Given the description of an element on the screen output the (x, y) to click on. 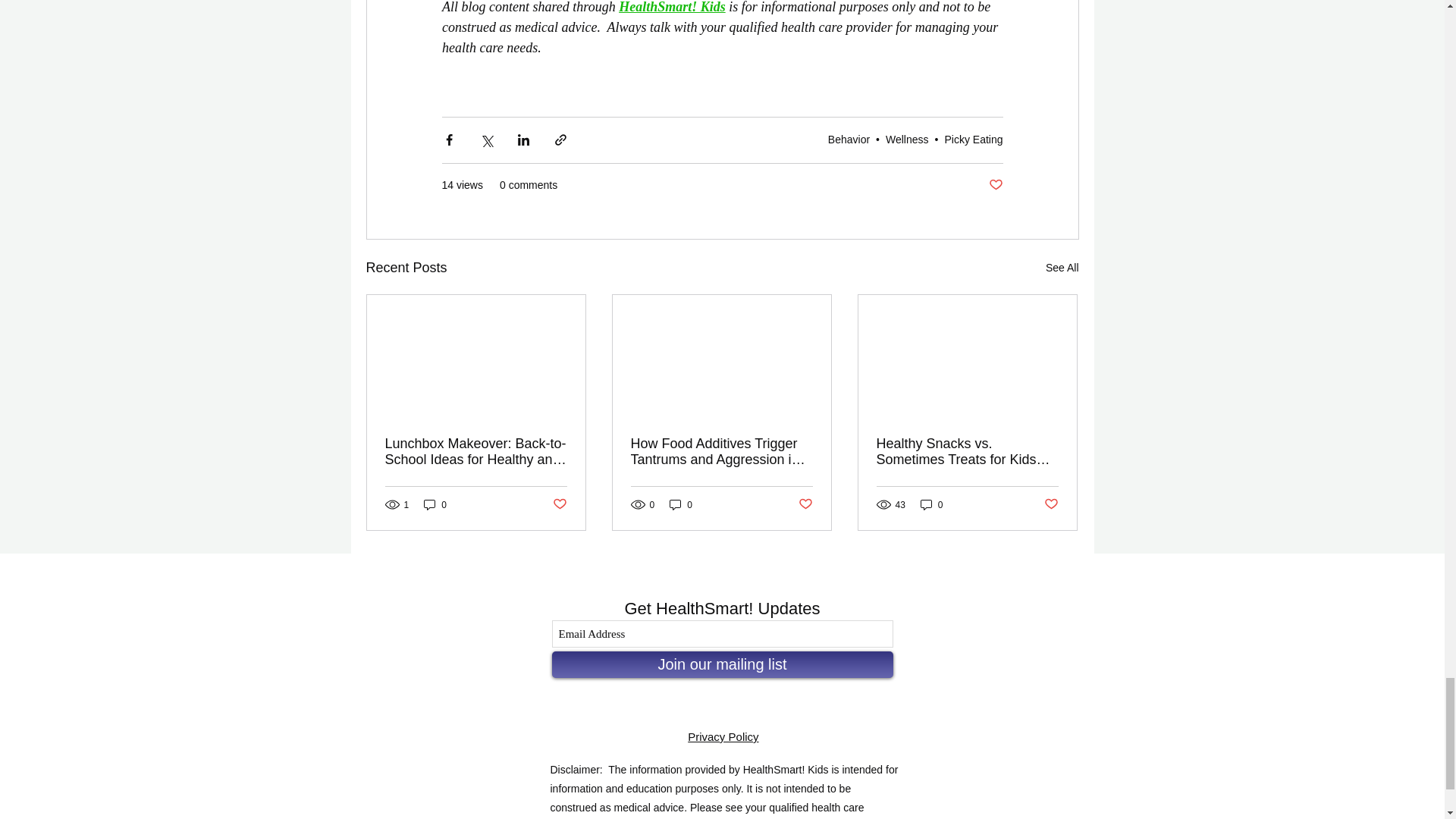
Wellness (906, 139)
0 (435, 504)
Post not marked as liked (804, 504)
Behavior (848, 139)
0 (681, 504)
HealthSmart! Kids (671, 7)
Picky Eating (973, 139)
Post not marked as liked (995, 185)
Post not marked as liked (558, 504)
